Given the description of an element on the screen output the (x, y) to click on. 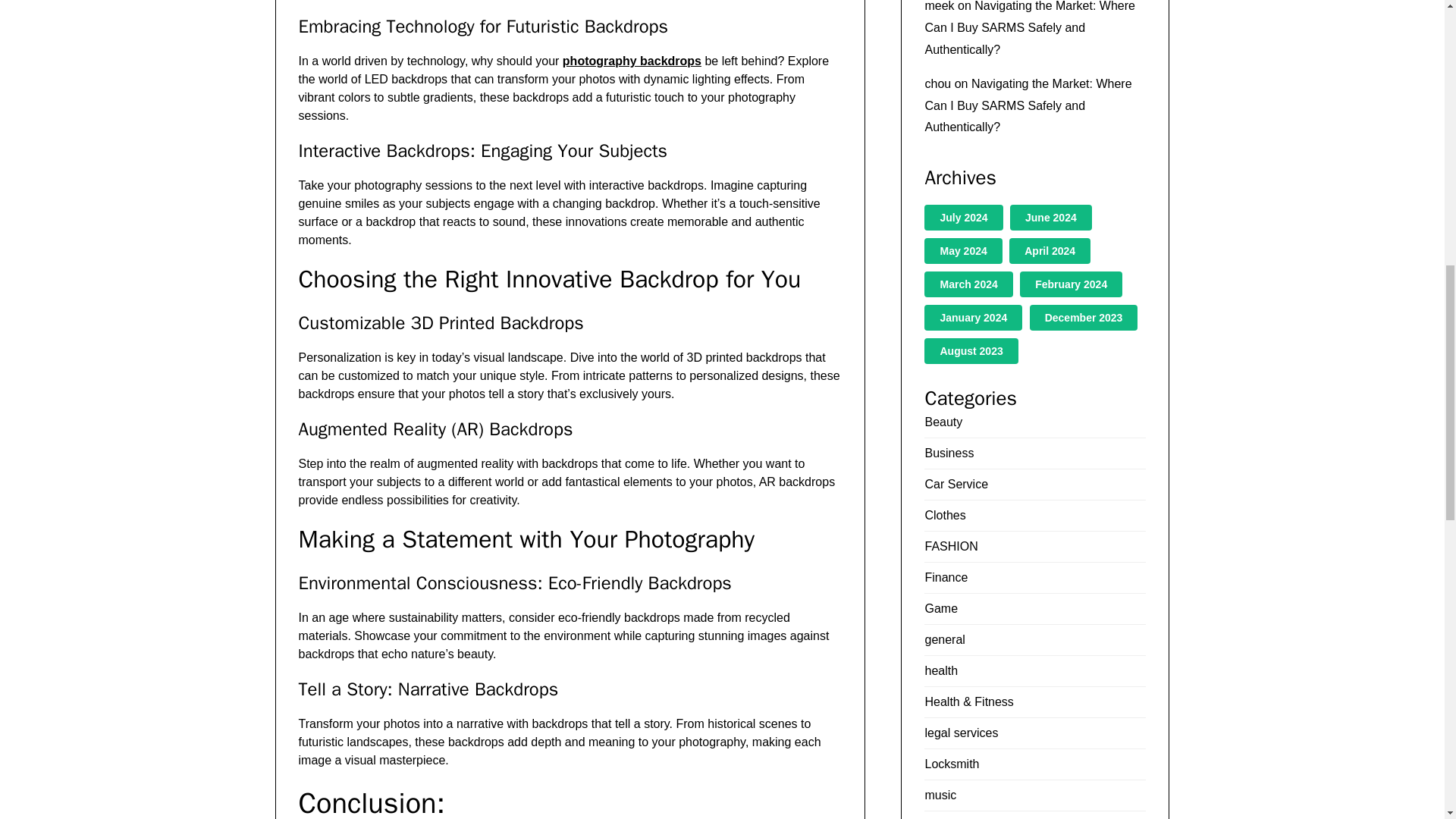
January 2024 (973, 317)
FASHION (950, 545)
Business (949, 452)
December 2023 (1083, 317)
March 2024 (968, 284)
Beauty (943, 421)
photography backdrops (631, 60)
February 2024 (1070, 284)
April 2024 (1050, 250)
July 2024 (963, 217)
Car Service (956, 483)
meek (938, 6)
August 2023 (971, 350)
